Given the description of an element on the screen output the (x, y) to click on. 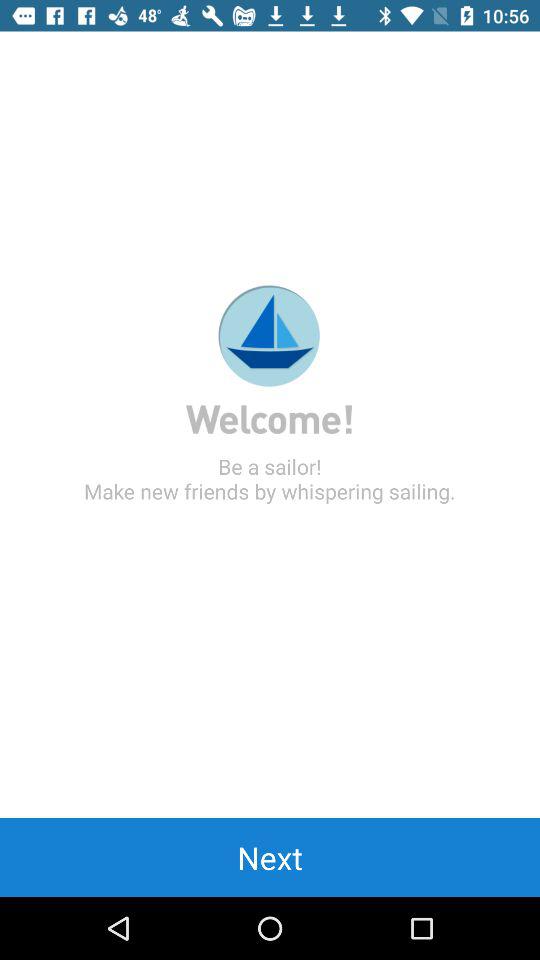
tap icon below be a sailor (270, 857)
